Given the description of an element on the screen output the (x, y) to click on. 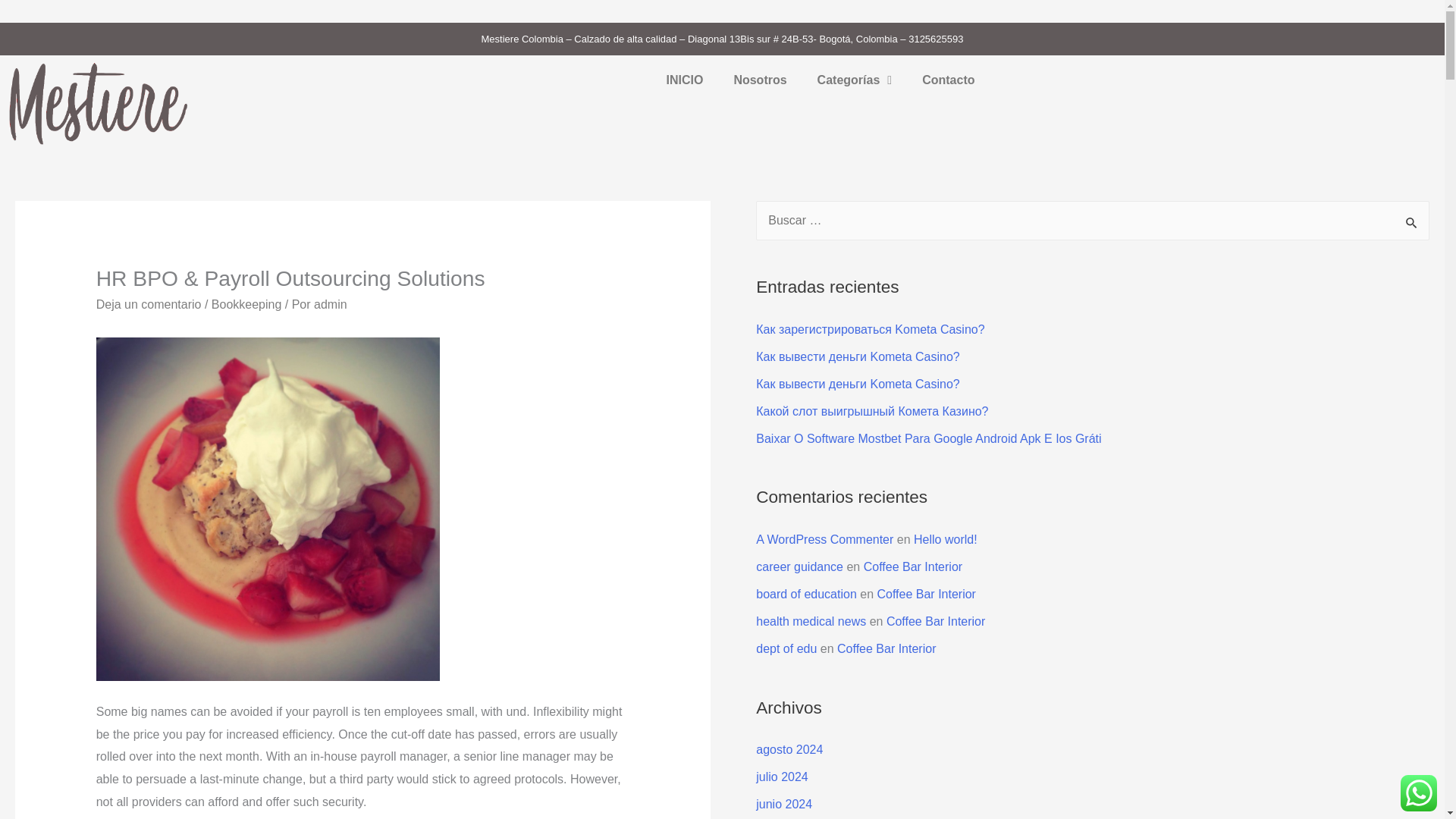
Nosotros (759, 80)
admin (330, 304)
A WordPress Commenter (824, 539)
Contacto (948, 80)
career guidance (799, 566)
INICIO (683, 80)
Bookkeeping (246, 304)
Ver todas las entradas de admin (330, 304)
Coffee Bar Interior (912, 566)
Deja un comentario (149, 304)
